Given the description of an element on the screen output the (x, y) to click on. 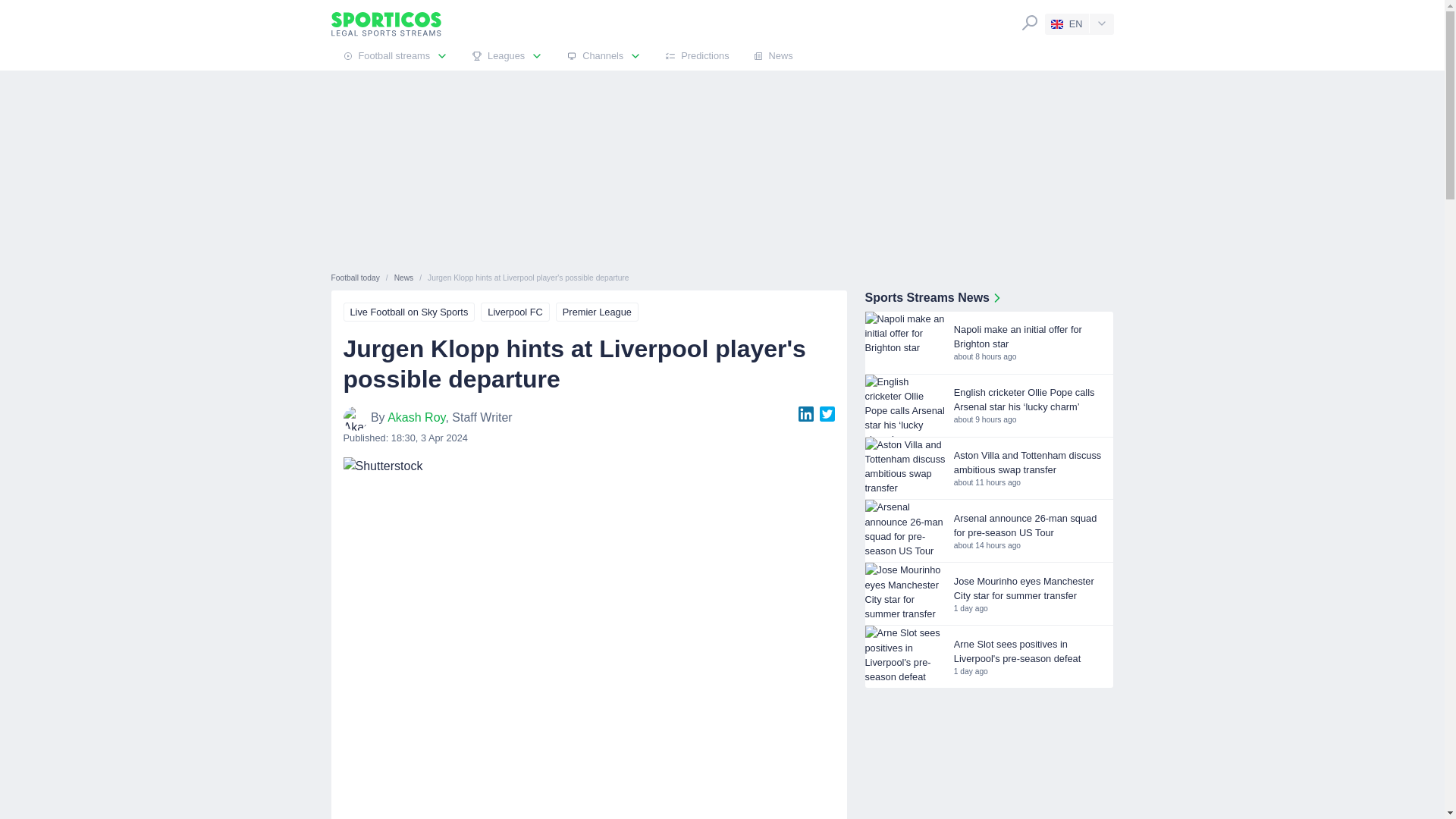
Leagues (507, 56)
EN (1079, 24)
Football streams (395, 56)
Akash Roy (416, 417)
